Given the description of an element on the screen output the (x, y) to click on. 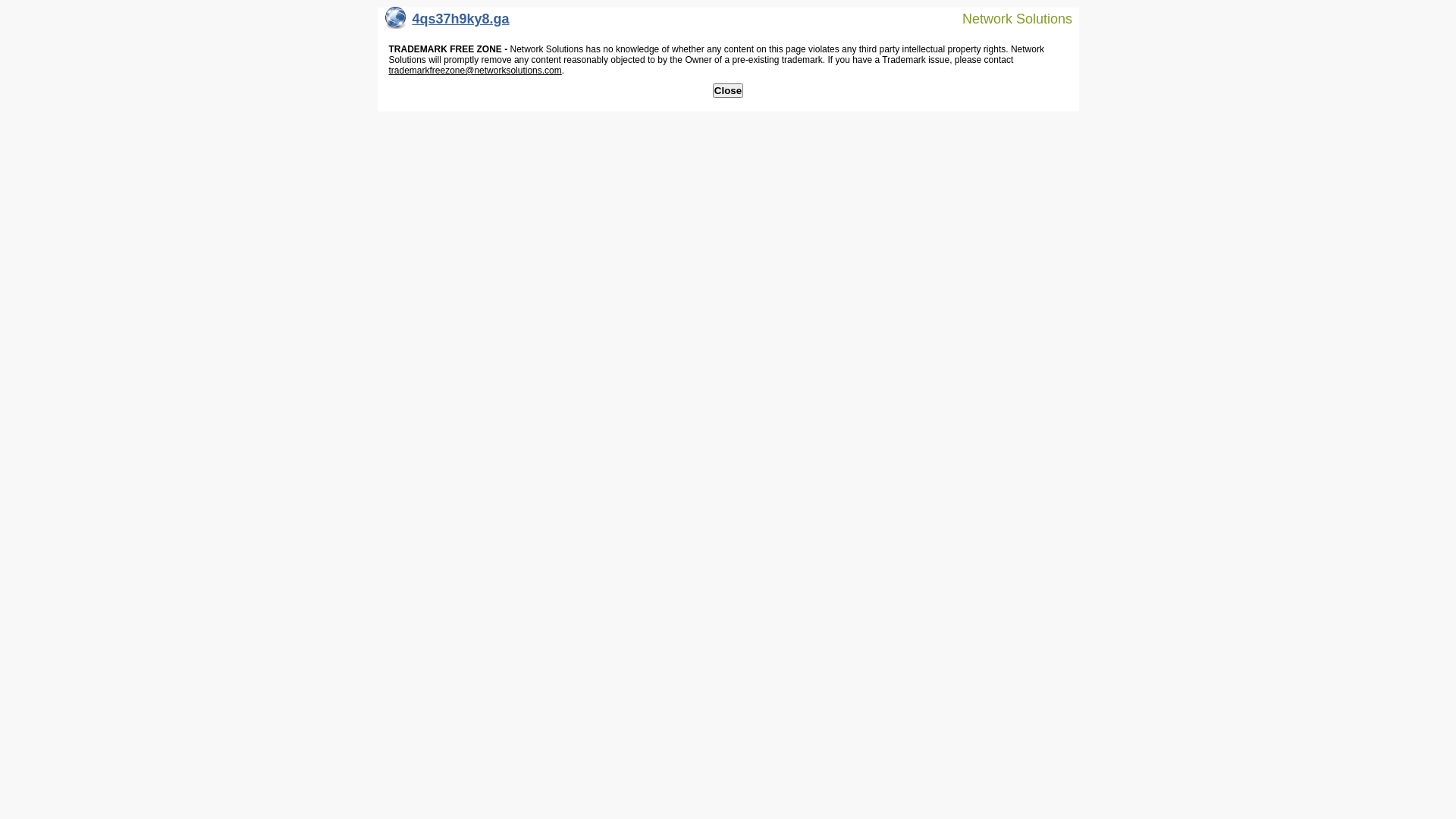
Network Solutions Element type: text (1007, 17)
Close Element type: text (727, 90)
trademarkfreezone@networksolutions.com Element type: text (474, 70)
4qs37h9ky8.ga Element type: text (447, 21)
